Given the description of an element on the screen output the (x, y) to click on. 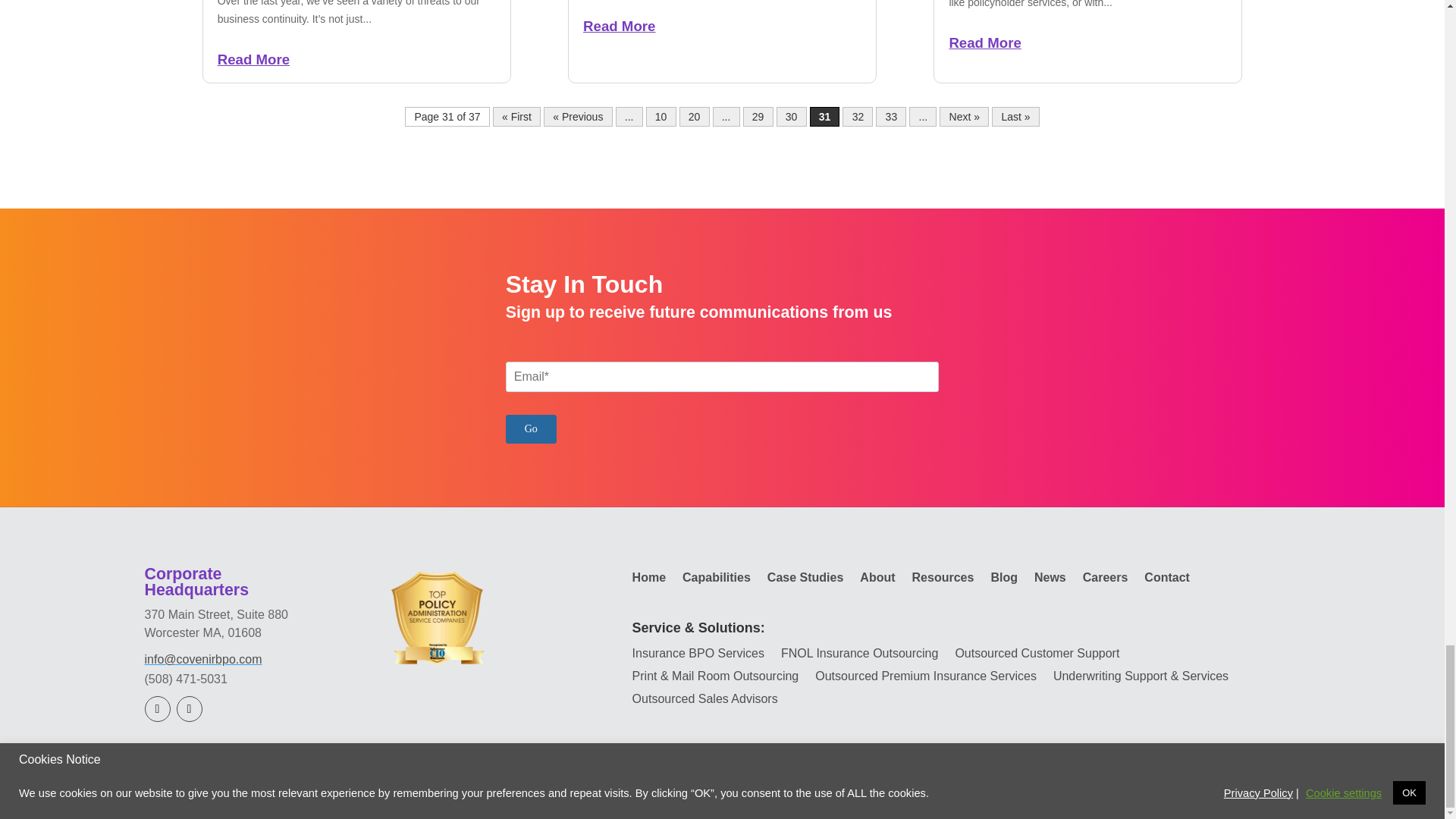
Page 33 (890, 116)
Page 20 (694, 116)
CIO Top Policy Administration Service Companies (437, 618)
Page 30 (791, 116)
Page 29 (757, 116)
Page 10 (661, 116)
Follow on LinkedIn (157, 708)
Go (530, 428)
Follow on X (189, 708)
Page 32 (857, 116)
